Given the description of an element on the screen output the (x, y) to click on. 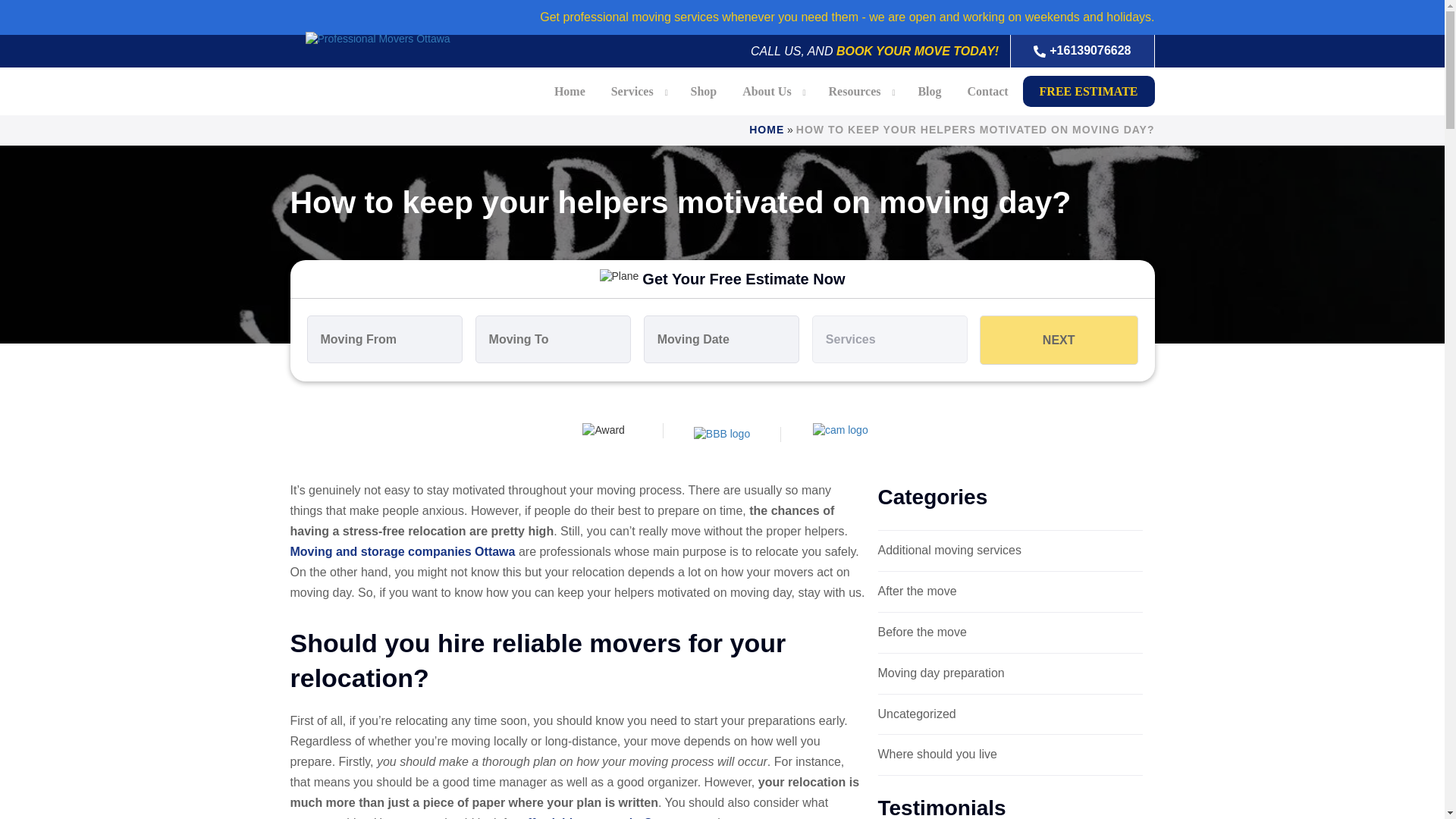
Home (569, 91)
NEXT (1058, 339)
BOOK YOUR MOVE TODAY! (916, 51)
Services (632, 91)
